Given the description of an element on the screen output the (x, y) to click on. 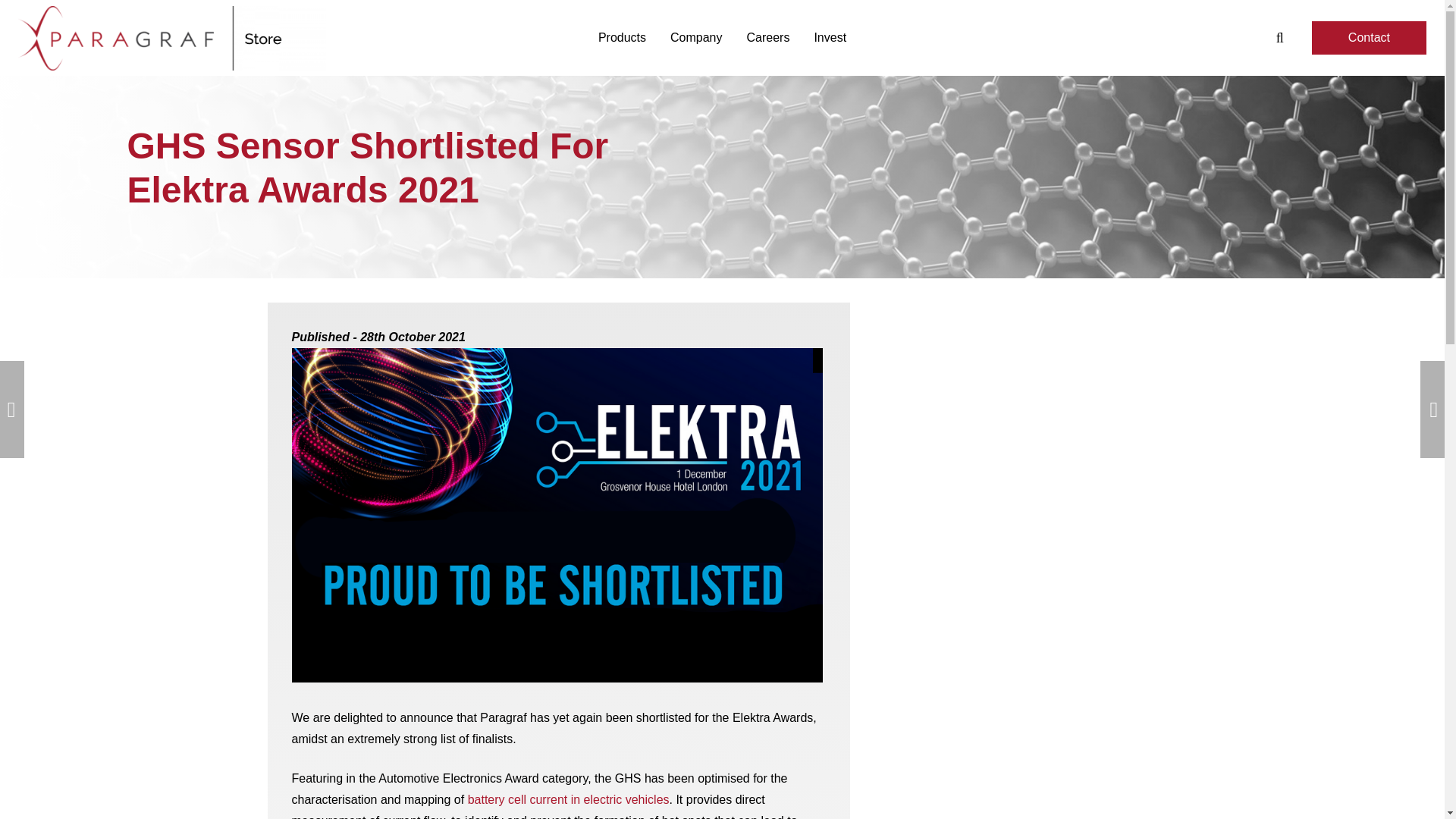
Company (695, 37)
Products (622, 37)
Invest (830, 37)
Careers (768, 37)
Contact (1368, 38)
